Given the description of an element on the screen output the (x, y) to click on. 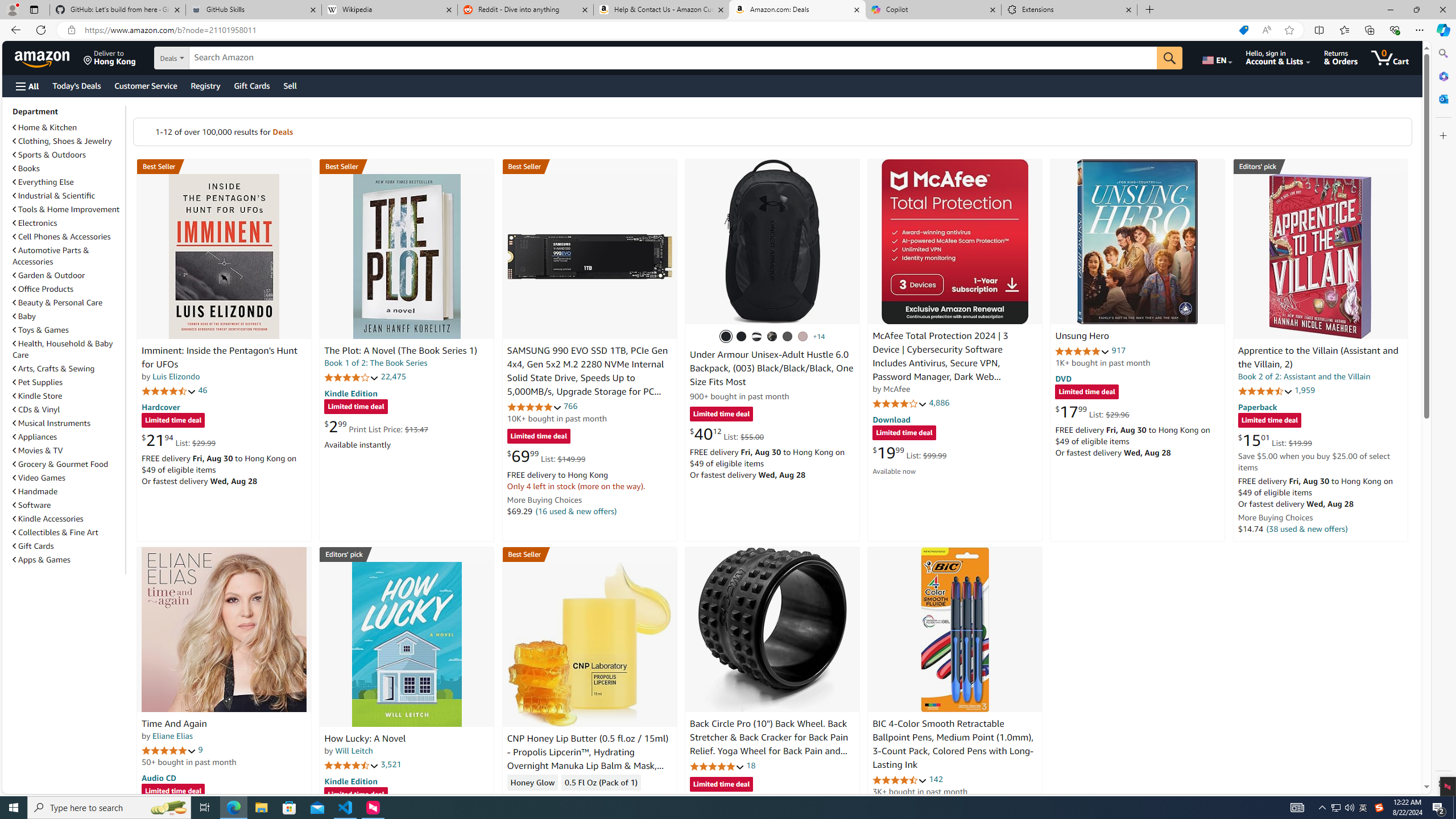
Office Products (43, 289)
Handmade (67, 491)
5.0 out of 5 stars (168, 750)
Tools & Home Improvement (67, 208)
Movies & TV (67, 450)
4.2 out of 5 stars (352, 377)
Clothing, Shoes & Jewelry (67, 140)
$2.99 Print List Price: $13.47 (376, 426)
Movies & TV (37, 450)
Help & Contact Us - Amazon Customer Service (660, 9)
Toys & Games (67, 329)
Copilot (933, 9)
Industrial & Scientific (67, 195)
Musical Instruments (67, 423)
